Given the description of an element on the screen output the (x, y) to click on. 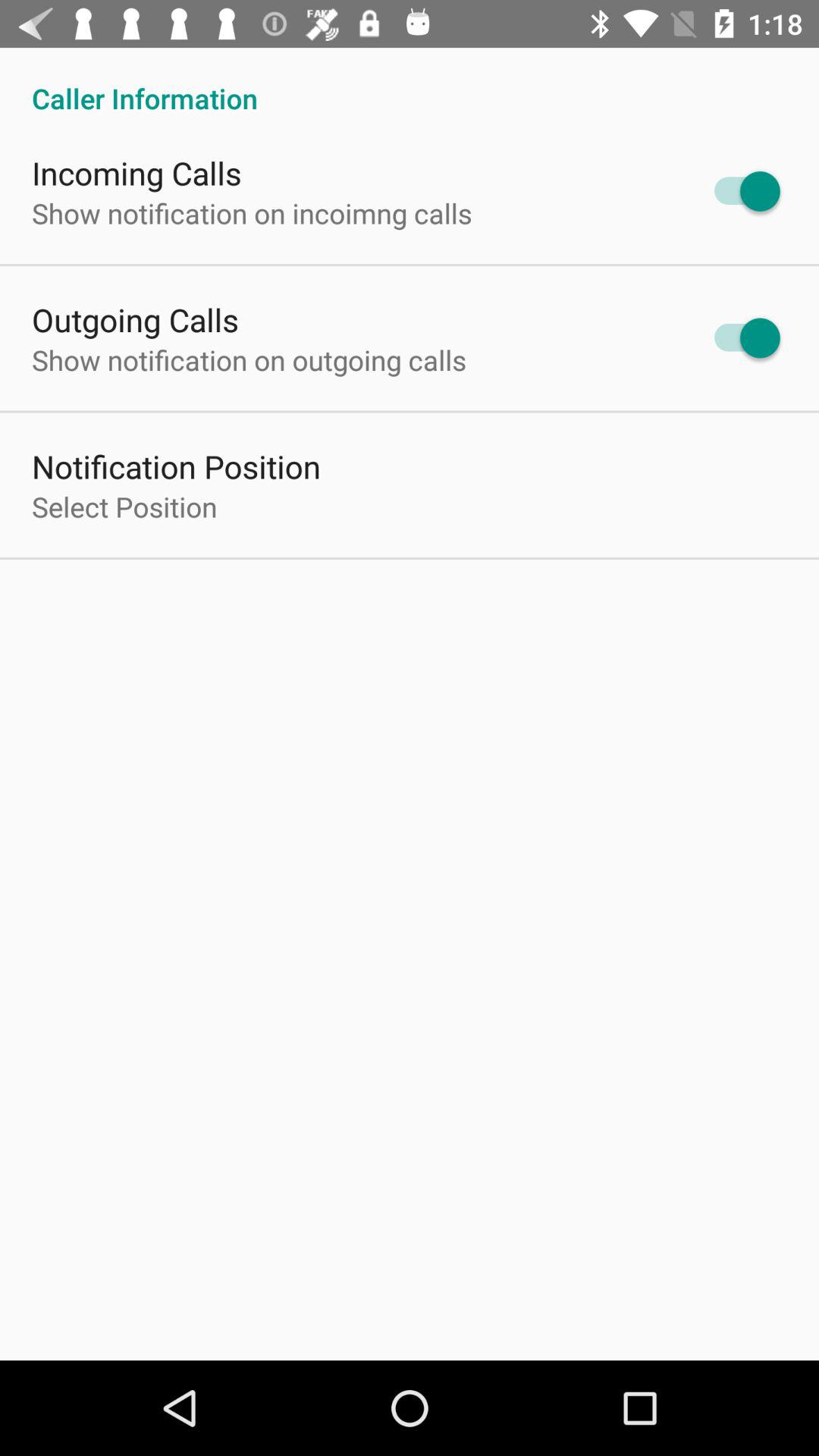
jump until notification position (175, 465)
